Given the description of an element on the screen output the (x, y) to click on. 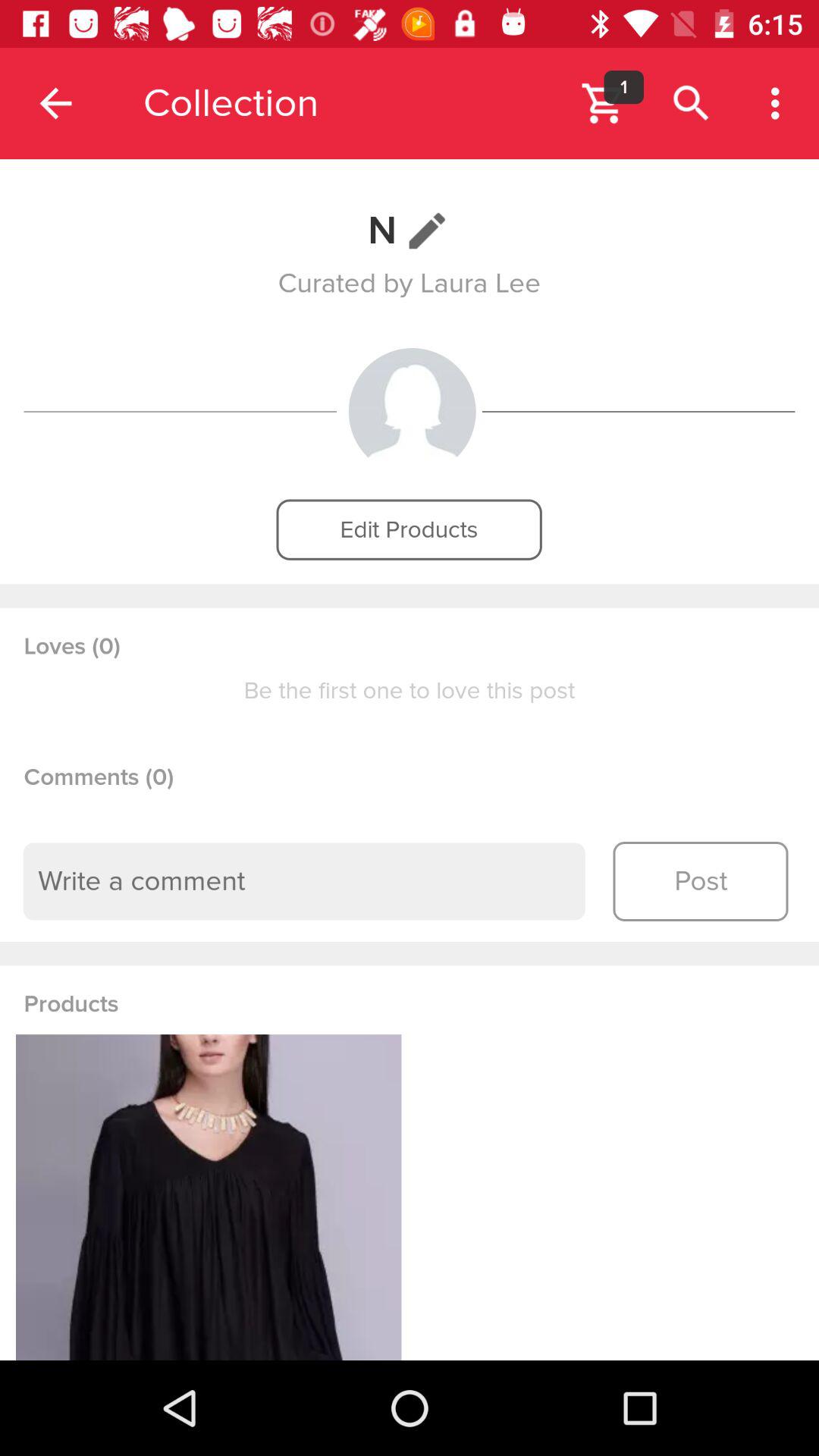
turn off the icon next to the collection app (623, 87)
